Given the description of an element on the screen output the (x, y) to click on. 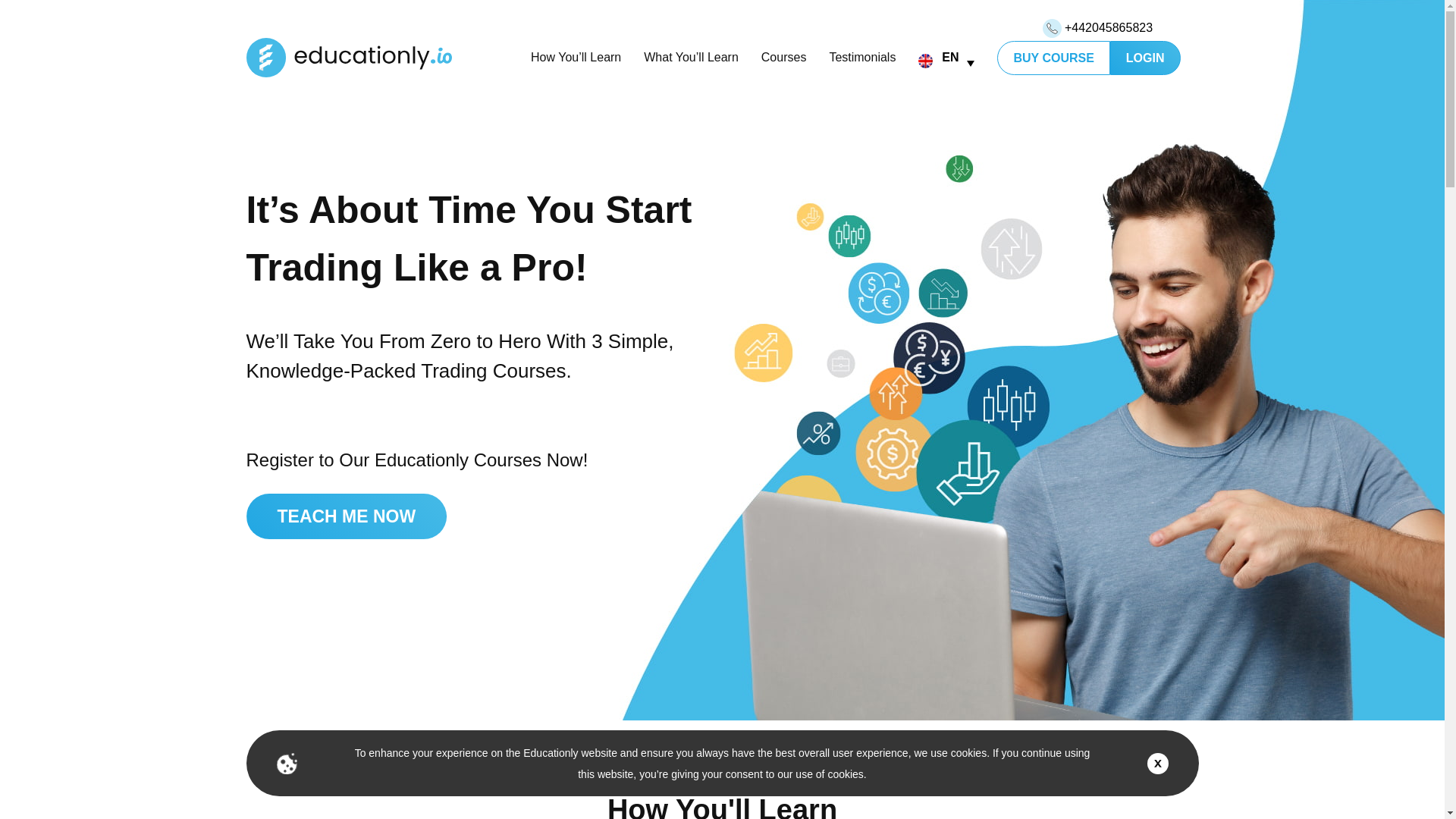
BUY COURSE (1053, 57)
EN (946, 57)
Courses (783, 56)
TEACH ME NOW (346, 515)
LOGIN (1144, 57)
EN (946, 57)
Testimonials (861, 56)
